Given the description of an element on the screen output the (x, y) to click on. 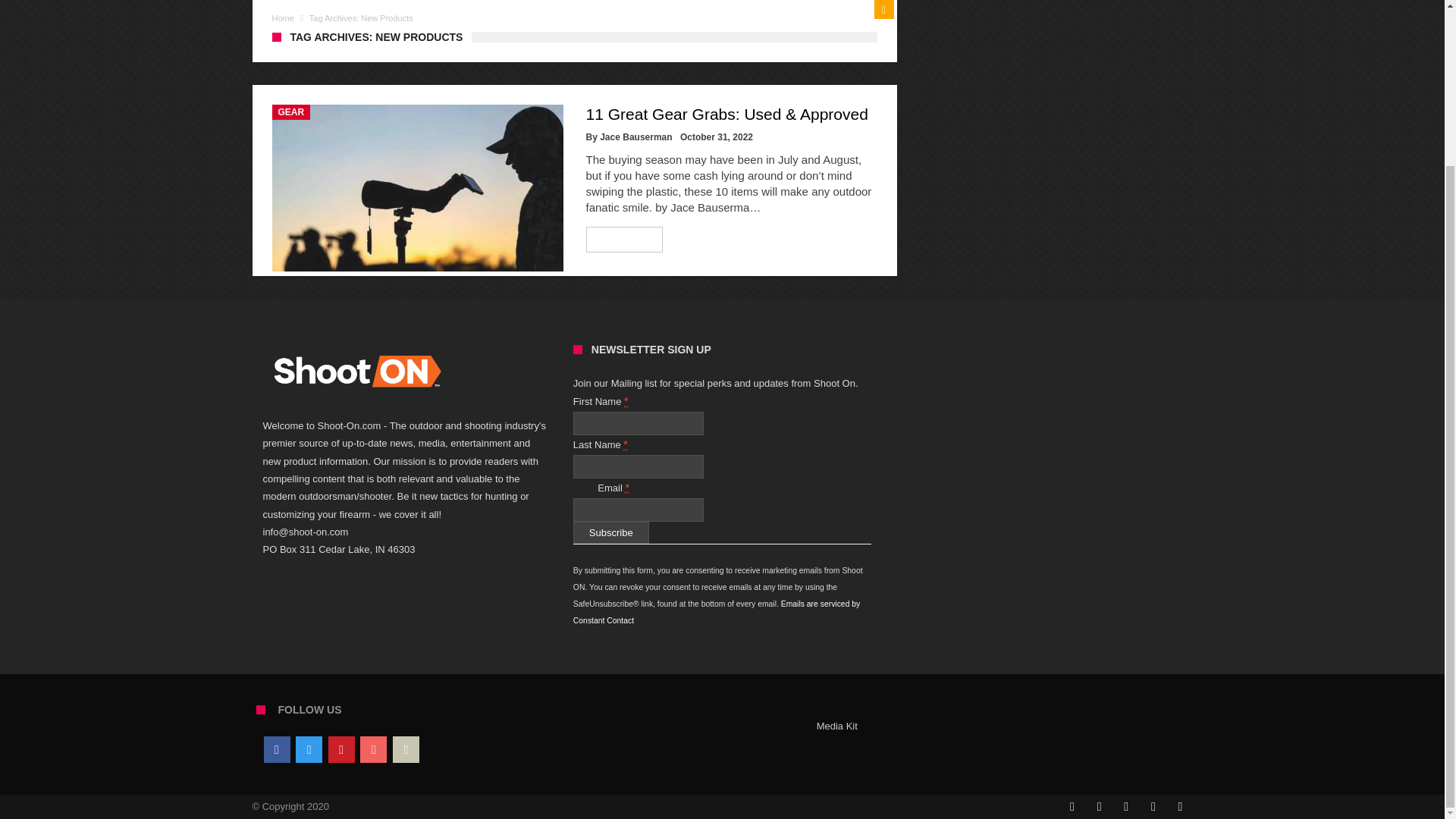
Emails are serviced by Constant Contact (716, 611)
Jace Bauserman (635, 137)
Home (282, 17)
Posts by Jace Bauserman (635, 137)
Subscribe (611, 532)
Facebook (276, 749)
Subscribe (611, 532)
Twitter (308, 749)
Read More (625, 239)
GEAR (290, 111)
